Given the description of an element on the screen output the (x, y) to click on. 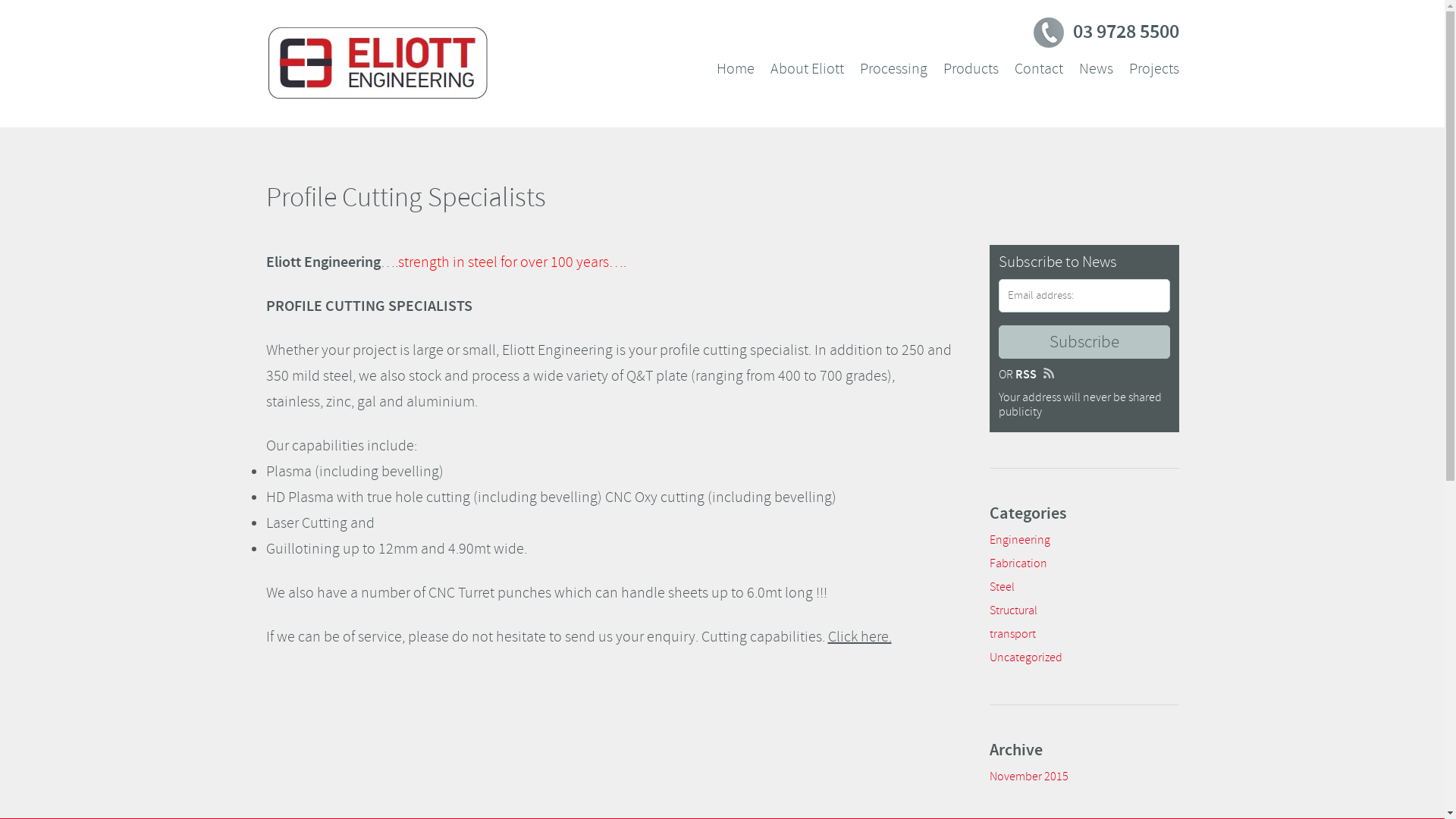
Uncategorized Element type: text (1024, 657)
November 2015 Element type: text (1027, 776)
News Element type: text (1095, 68)
transport Element type: text (1011, 633)
Processing Element type: text (893, 68)
Structural Element type: text (1012, 610)
Engineering Element type: text (1018, 539)
Steel Element type: text (1000, 586)
Home Element type: text (734, 68)
Products Element type: text (970, 68)
Projects Element type: text (1153, 68)
Contact Element type: text (1038, 68)
About Eliott Element type: text (807, 68)
Fabrication Element type: text (1017, 563)
